Given the description of an element on the screen output the (x, y) to click on. 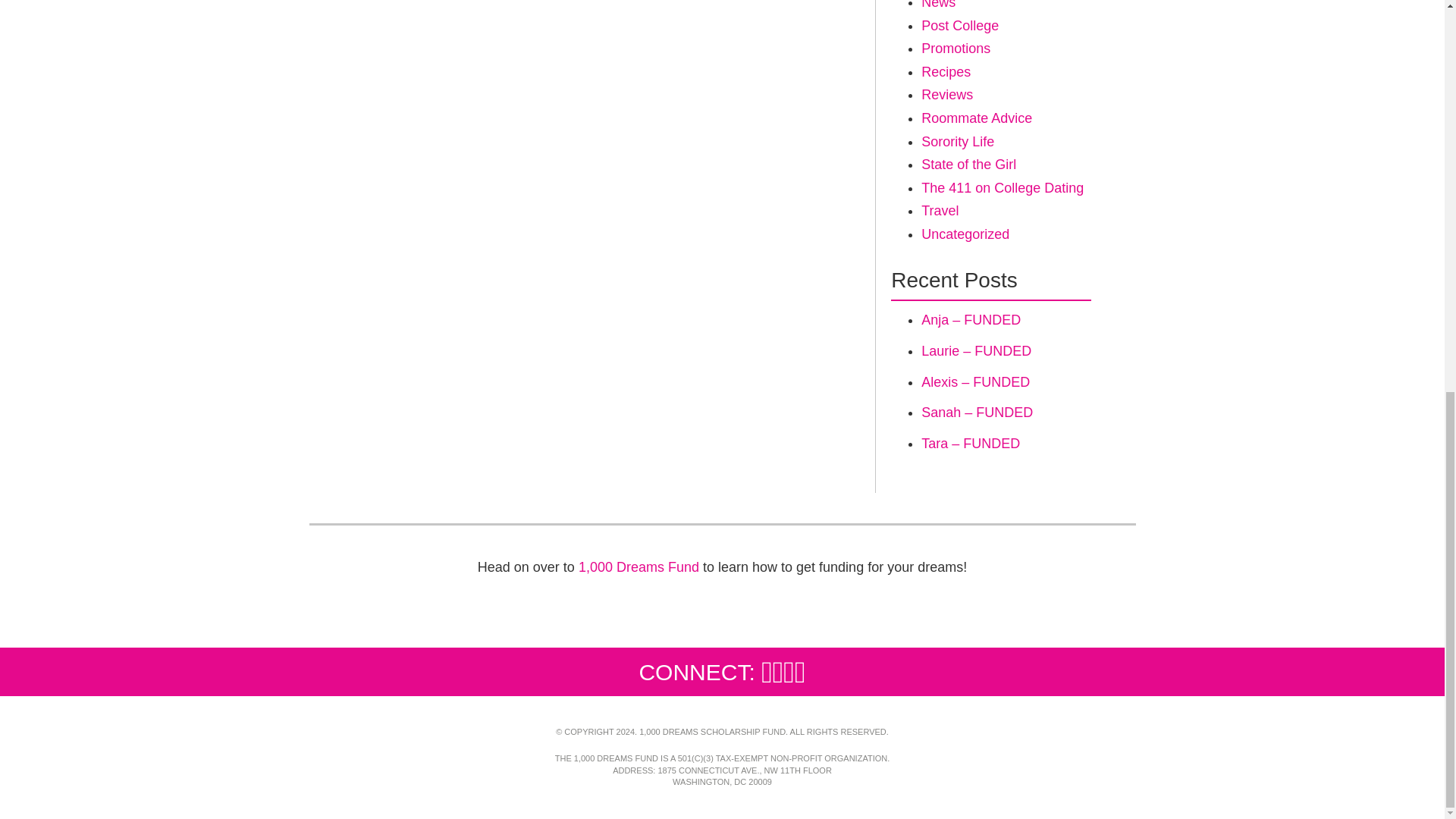
News (938, 4)
Promotions (955, 48)
Post College (959, 25)
